Given the description of an element on the screen output the (x, y) to click on. 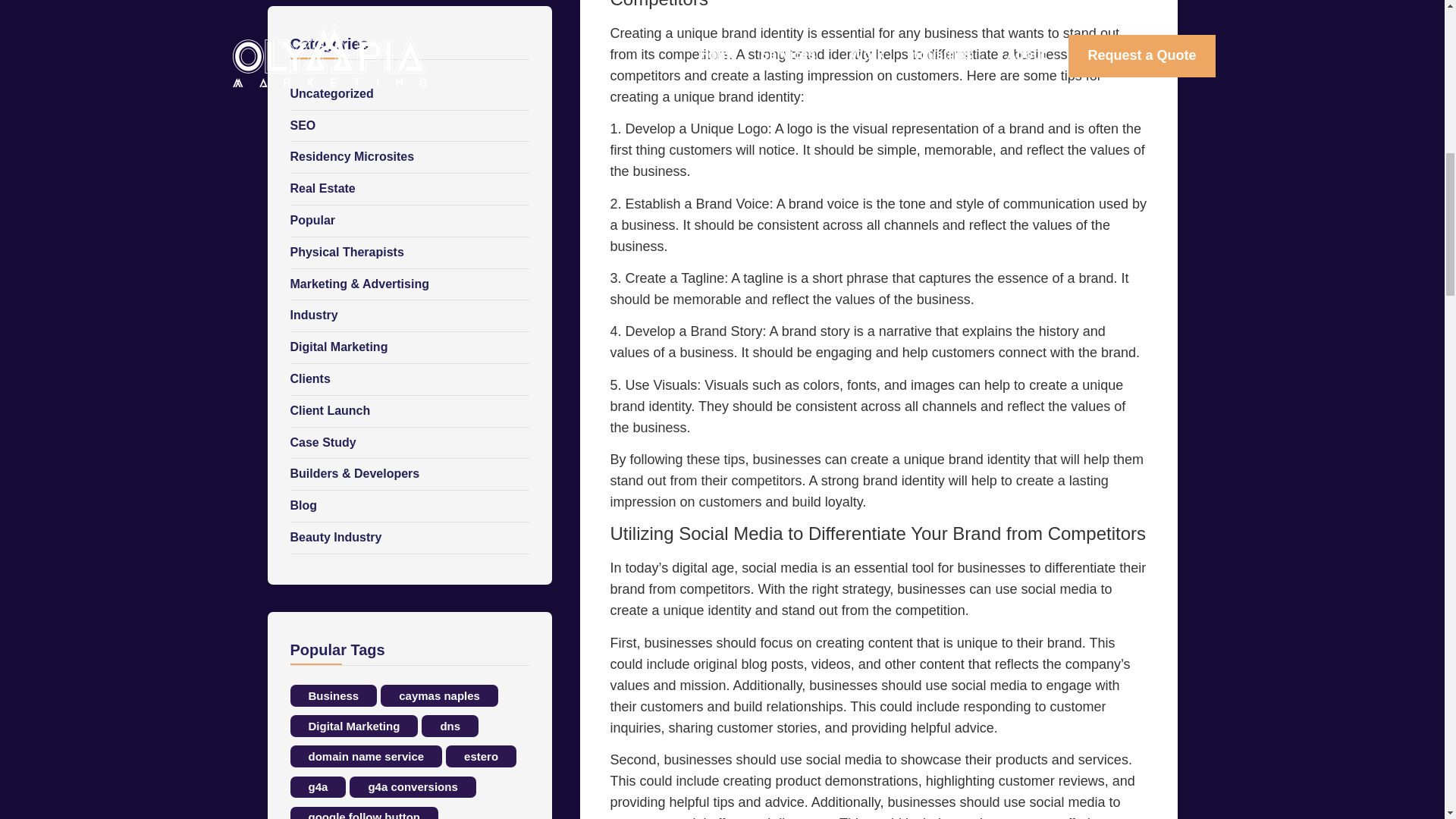
dns (450, 725)
g4a (317, 787)
caymas naples (438, 695)
estero (480, 756)
Digital Marketing (353, 725)
google follow button (363, 812)
g4a conversions (412, 787)
domain name service (365, 756)
Business (333, 695)
